Given the description of an element on the screen output the (x, y) to click on. 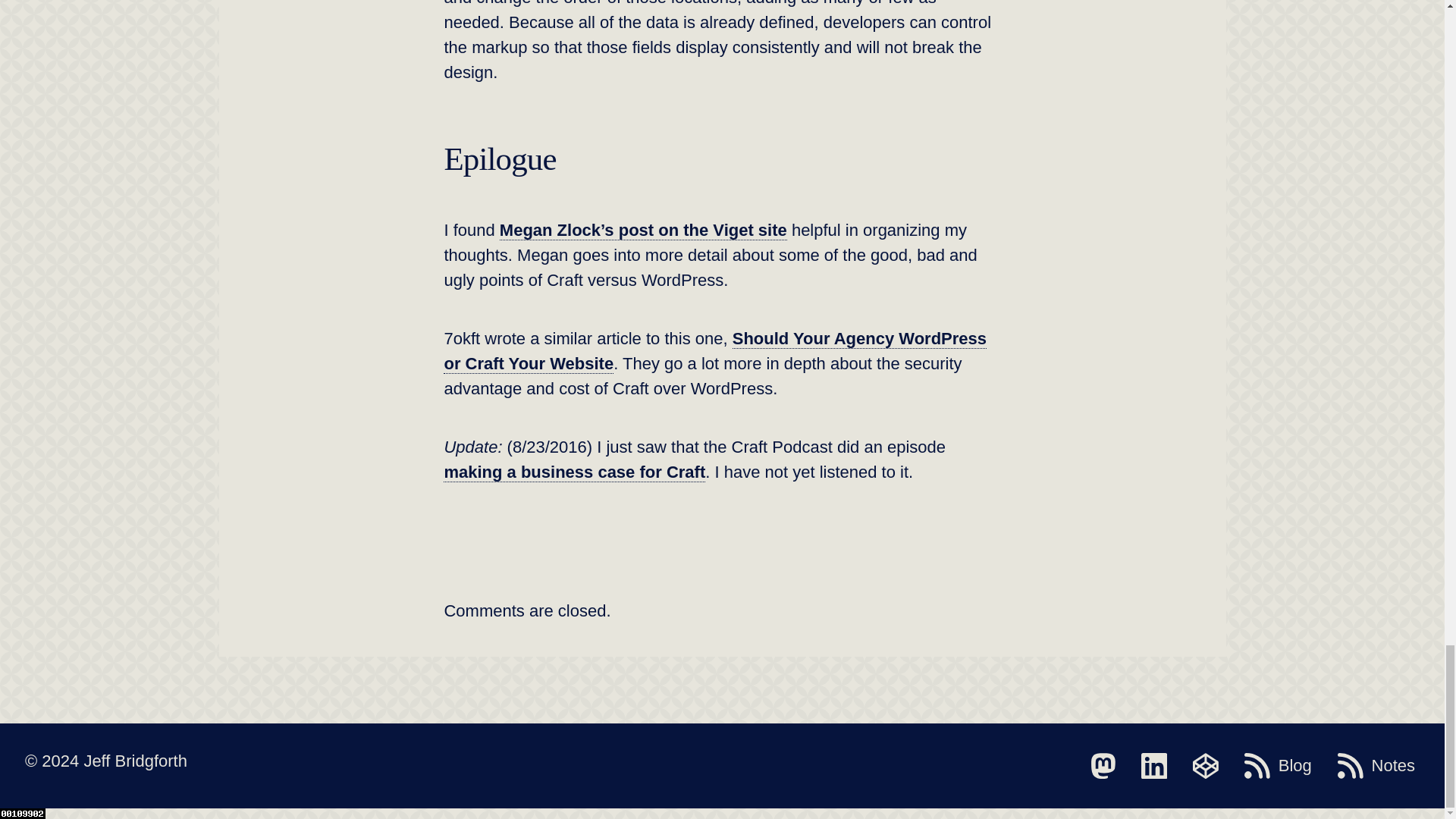
Mastodon (1102, 765)
Notes (1376, 765)
LinkedIn (1154, 765)
Should Your Agency WordPress or Craft Your Website (715, 350)
Codepen (1205, 765)
making a business case for Craft (574, 471)
Blog (1278, 765)
